Given the description of an element on the screen output the (x, y) to click on. 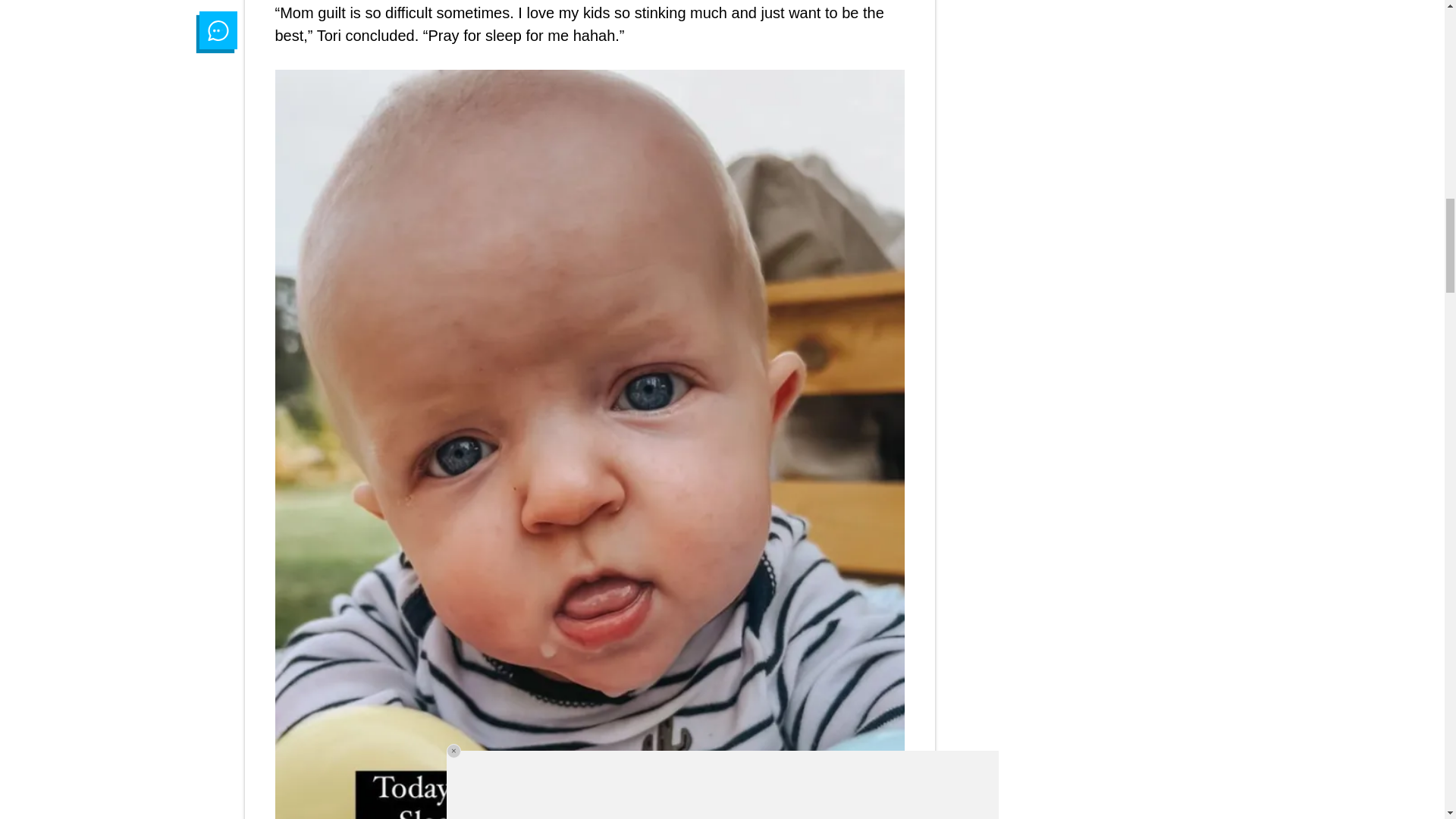
Google Ad - 4 (1062, 35)
